Given the description of an element on the screen output the (x, y) to click on. 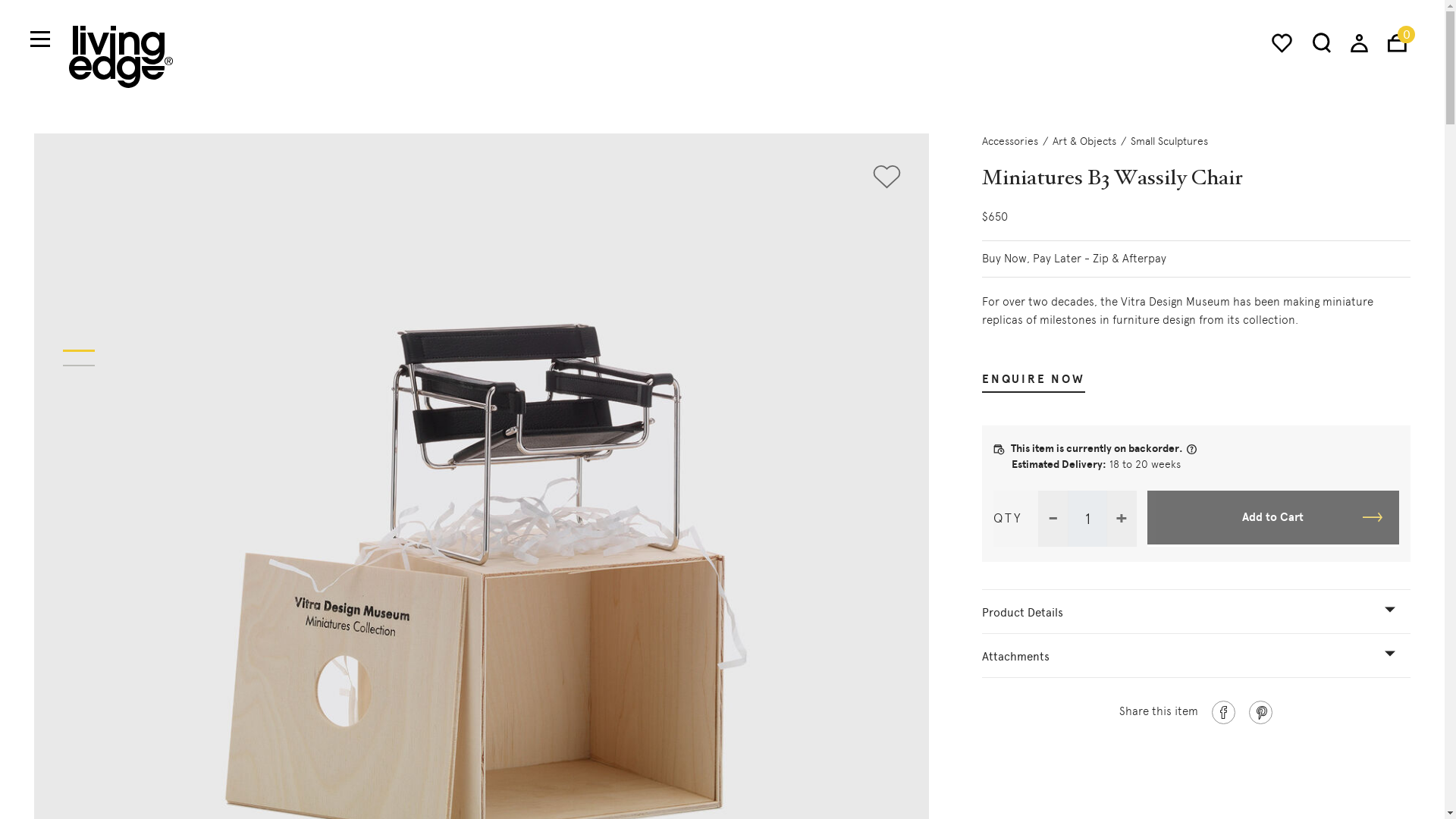
View Cart (1396, 42)
Menu (39, 38)
0 (1396, 42)
Living Edge Home (120, 56)
